Given the description of an element on the screen output the (x, y) to click on. 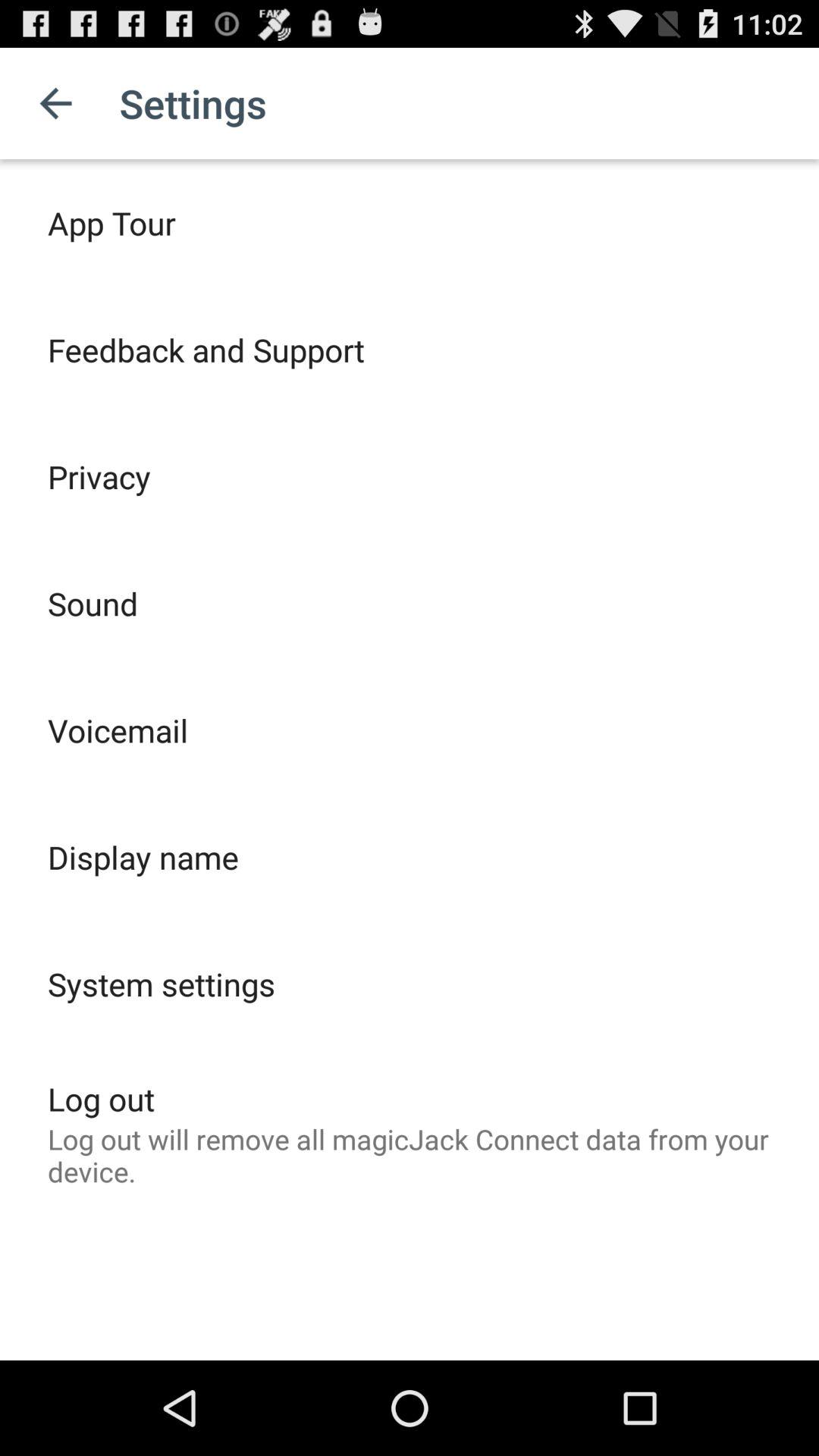
launch sound item (92, 603)
